Given the description of an element on the screen output the (x, y) to click on. 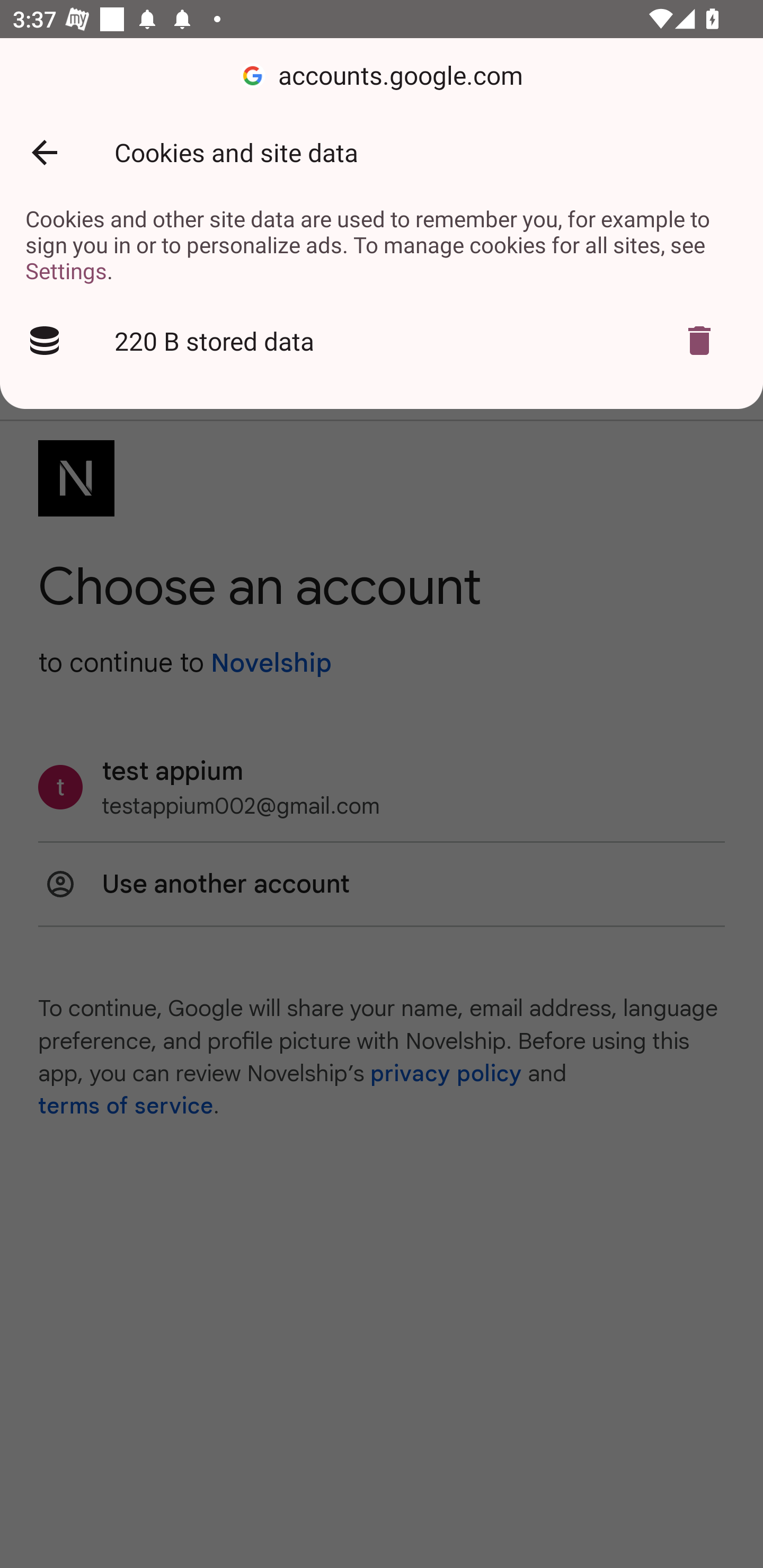
accounts.google.com (381, 75)
Back (44, 152)
220 B stored data Delete cookies? (381, 340)
